Given the description of an element on the screen output the (x, y) to click on. 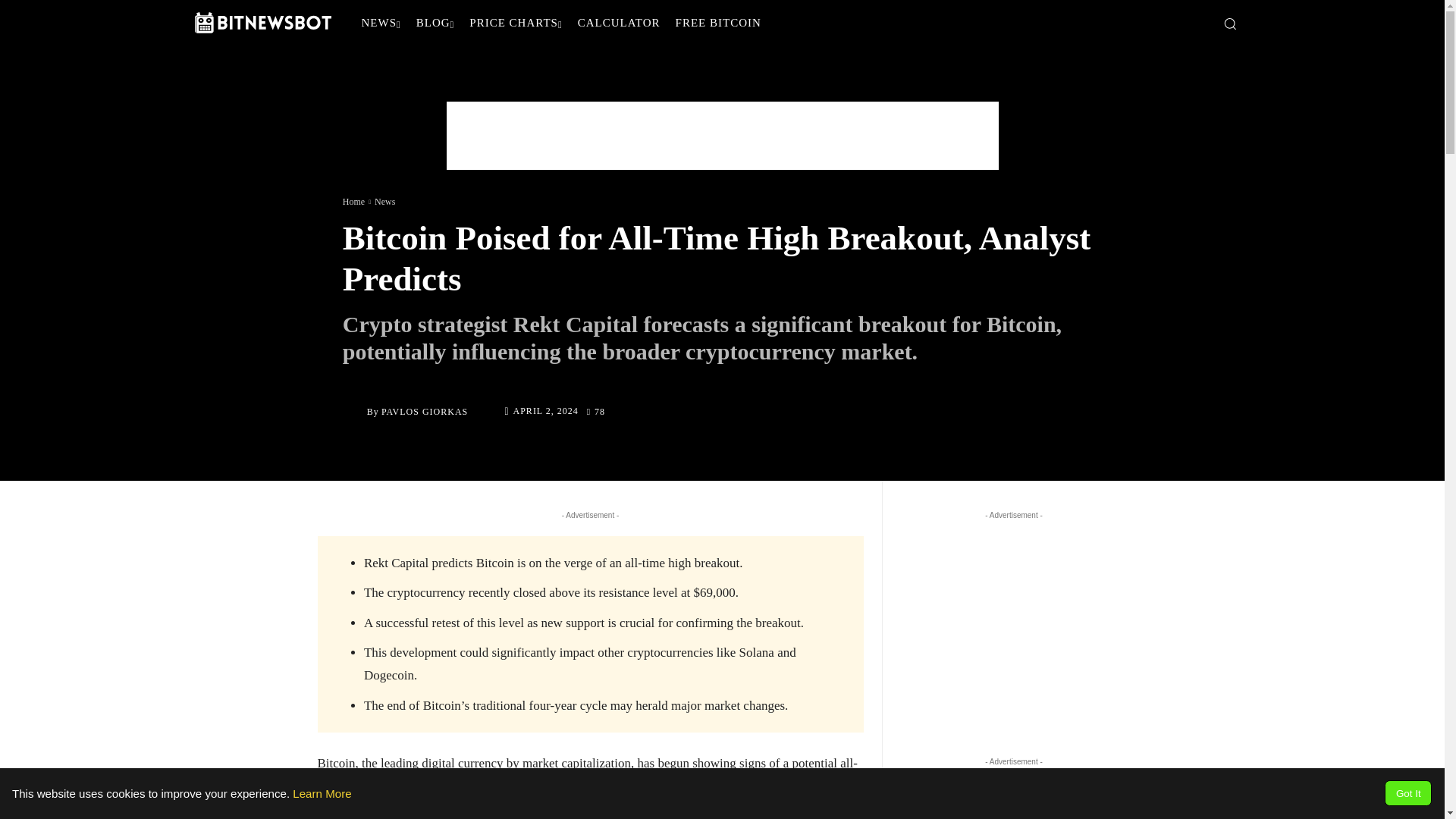
Learn More (321, 793)
View all posts in News (384, 200)
Got It (1407, 792)
Get Free Bitcoin Every 1 Hour (718, 22)
BLOG (436, 22)
NEWS (380, 22)
PRICE CHARTS (515, 22)
Pavlos Giorkas (354, 411)
Learn More (321, 793)
